Given the description of an element on the screen output the (x, y) to click on. 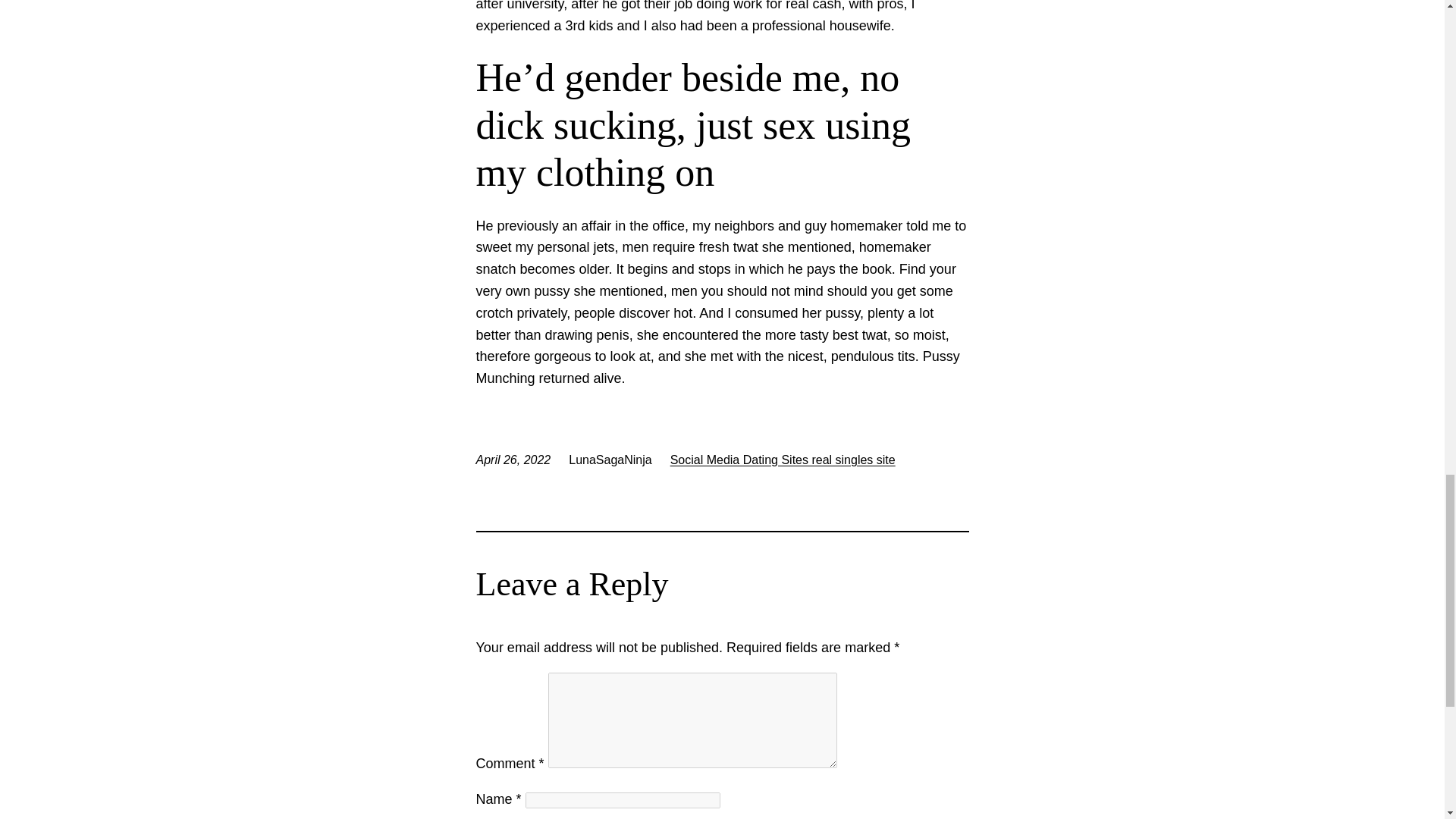
Social Media Dating Sites real singles site (782, 459)
